Given the description of an element on the screen output the (x, y) to click on. 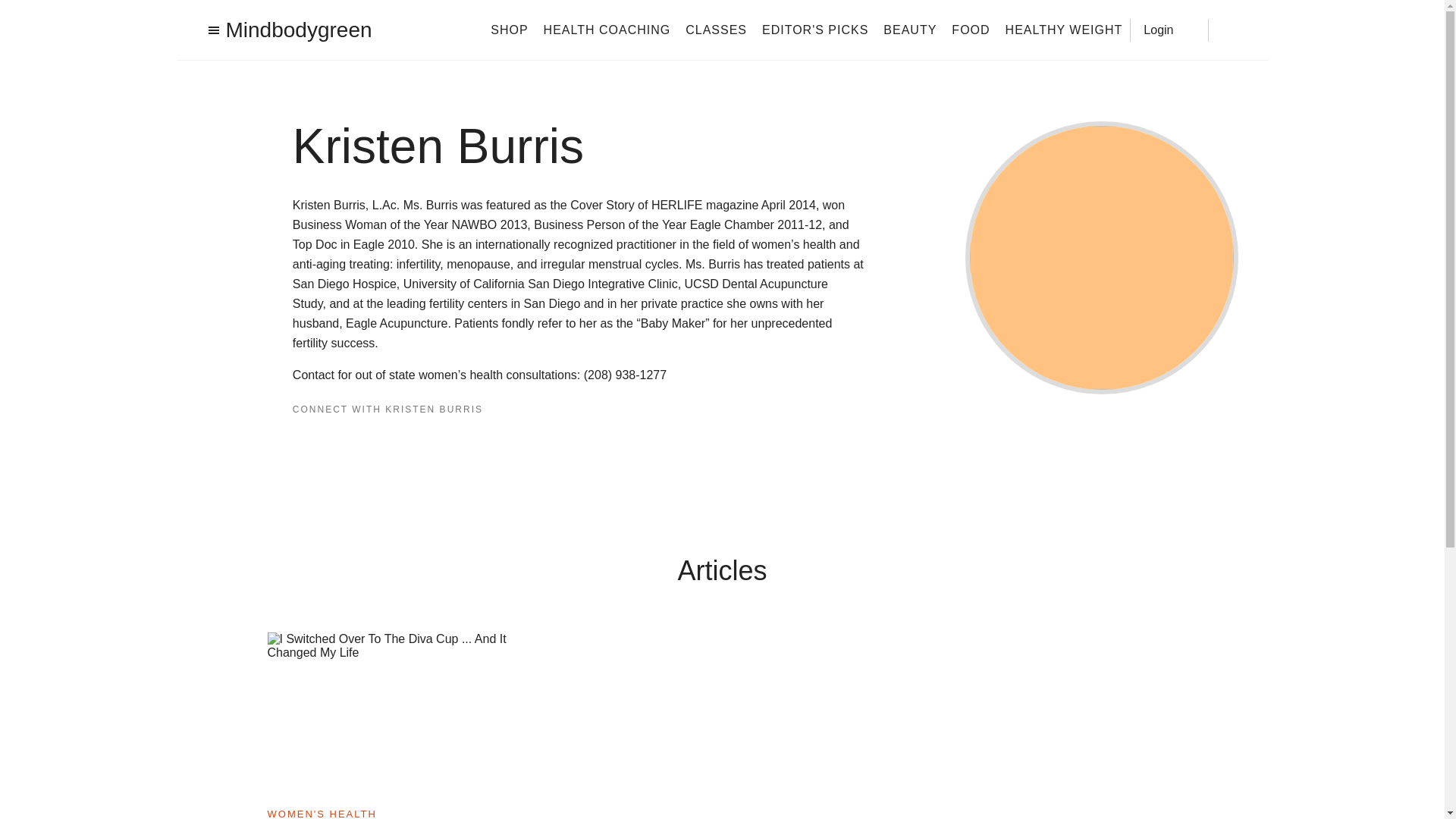
HEALTH COACHING (607, 29)
Visit Kristen Burris on facebook (298, 438)
Search (1230, 29)
Login (1168, 29)
Search (1230, 29)
Visit Kristen Burris on website (322, 439)
Visit Kristen Burris on website (332, 437)
WOMEN'S HEALTH (320, 813)
SHOP (508, 29)
HEALTHY WEIGHT (1064, 29)
EDITOR'S PICKS (814, 29)
BEAUTY (909, 29)
FOOD (971, 29)
CLASSES (715, 29)
